Given the description of an element on the screen output the (x, y) to click on. 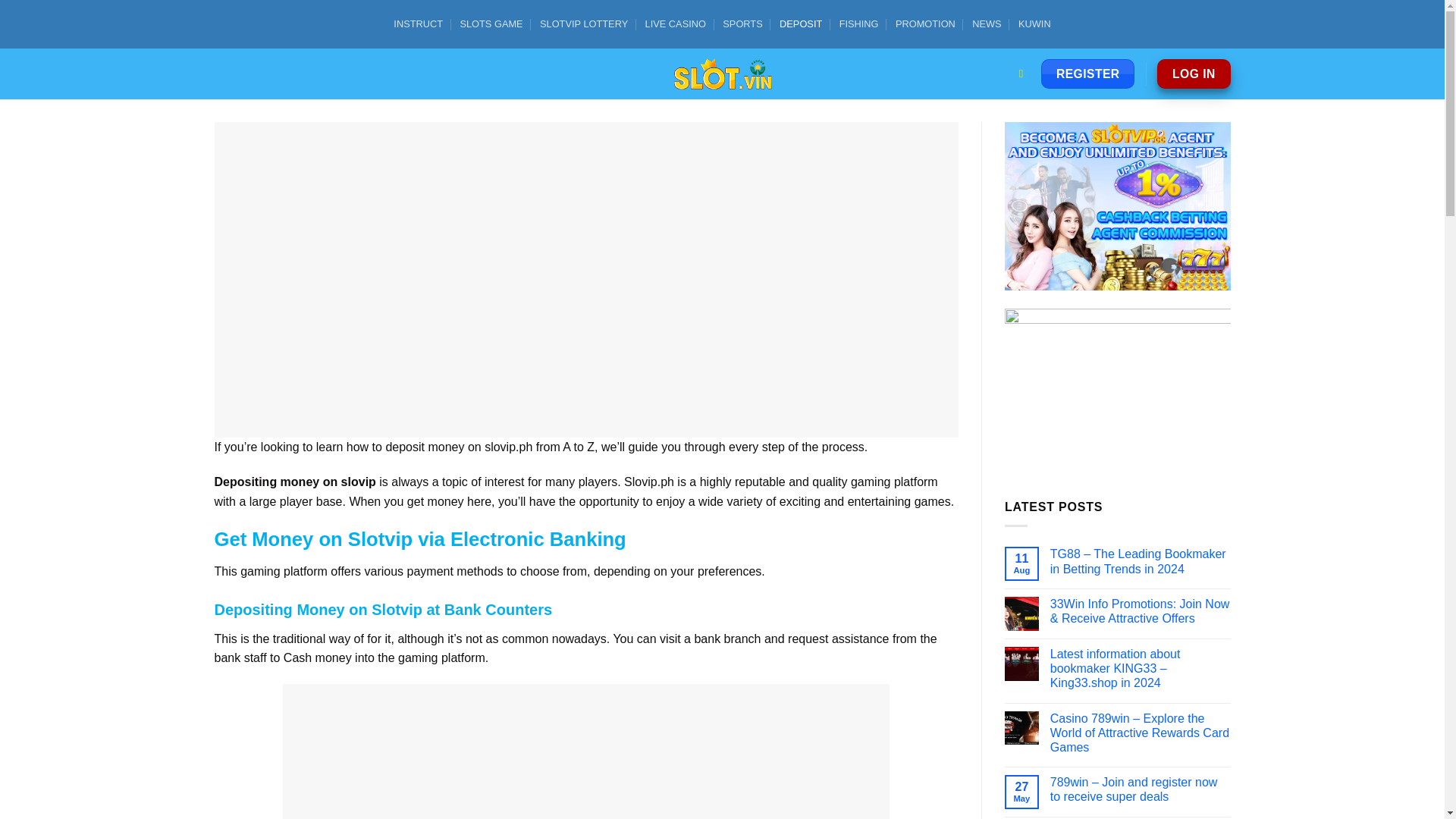
LIVE CASINO (675, 24)
FISHING (859, 24)
INSTRUCT (417, 24)
KUWIN (1034, 24)
REGISTER (1087, 73)
DEPOSIT (800, 24)
SLOTVIP LOTTERY (583, 24)
SPORTS (741, 24)
NEWS (986, 24)
